Given the description of an element on the screen output the (x, y) to click on. 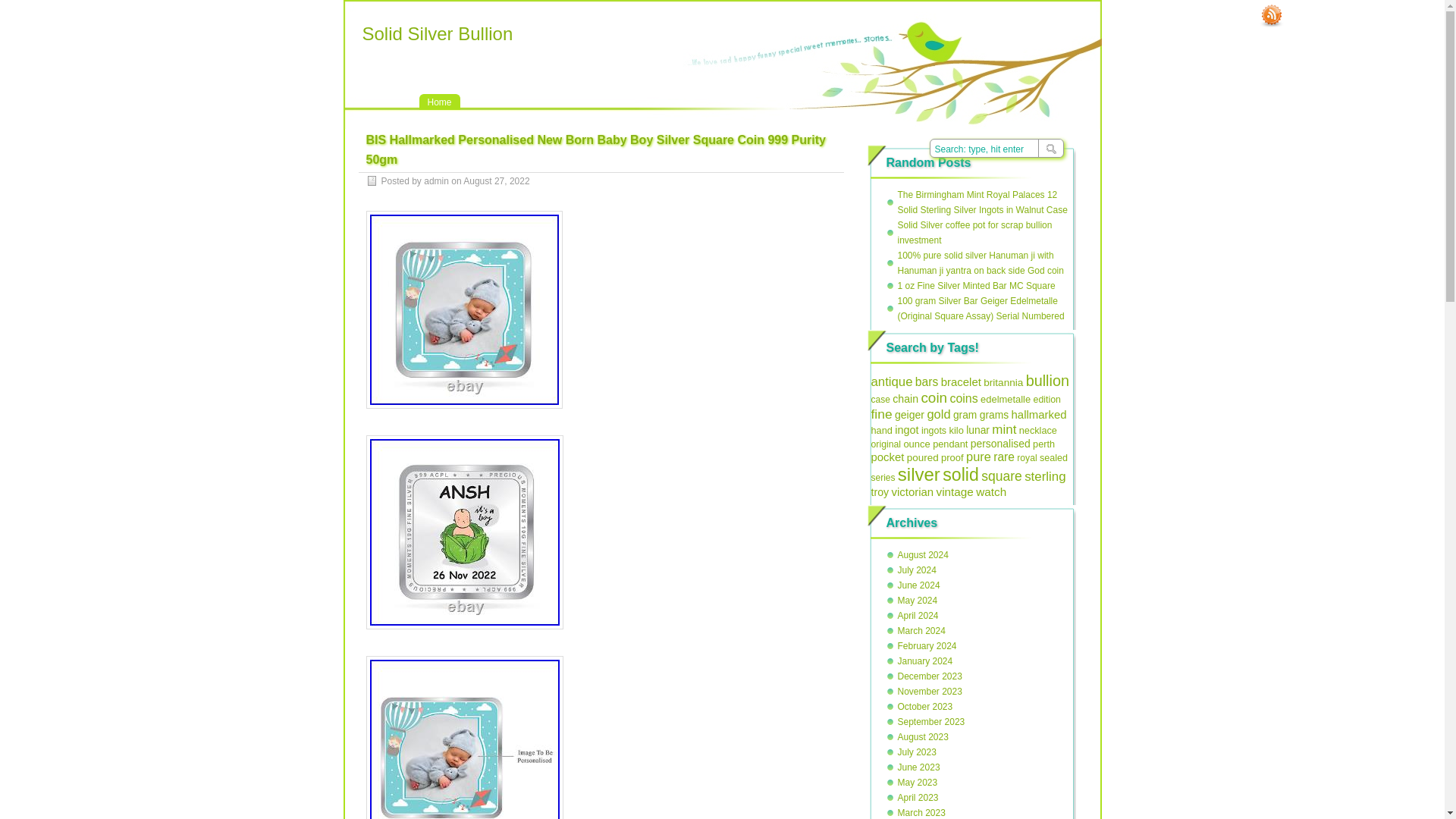
Search: type, hit enter (1006, 148)
SEARCH (1048, 148)
hand (880, 430)
edelmetalle (1004, 398)
bullion (1047, 380)
Home (439, 101)
311 topics (960, 381)
RSS Feed (1271, 15)
